Given the description of an element on the screen output the (x, y) to click on. 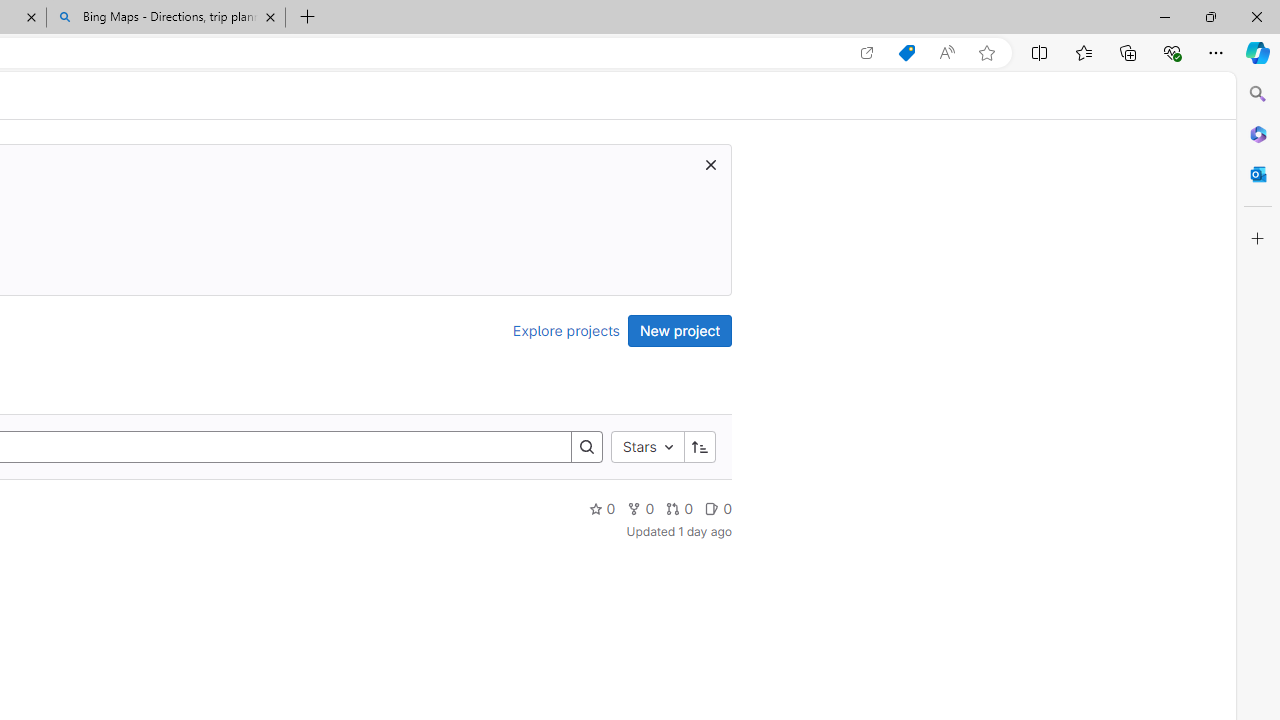
Shopping in Microsoft Edge (906, 53)
New project (680, 330)
Explore projects (565, 330)
Stars (647, 445)
